Given the description of an element on the screen output the (x, y) to click on. 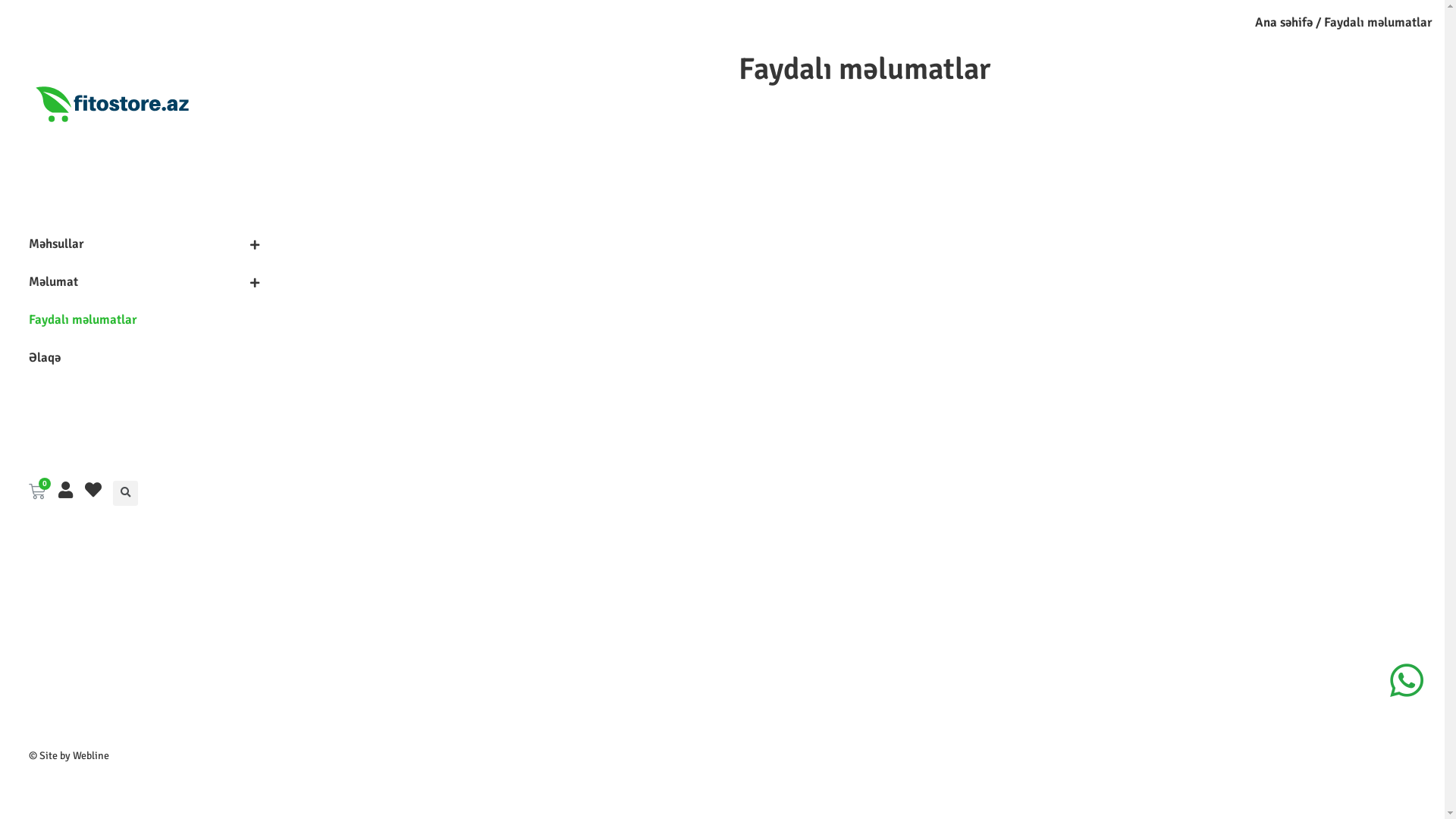
Webline Element type: text (90, 755)
